Given the description of an element on the screen output the (x, y) to click on. 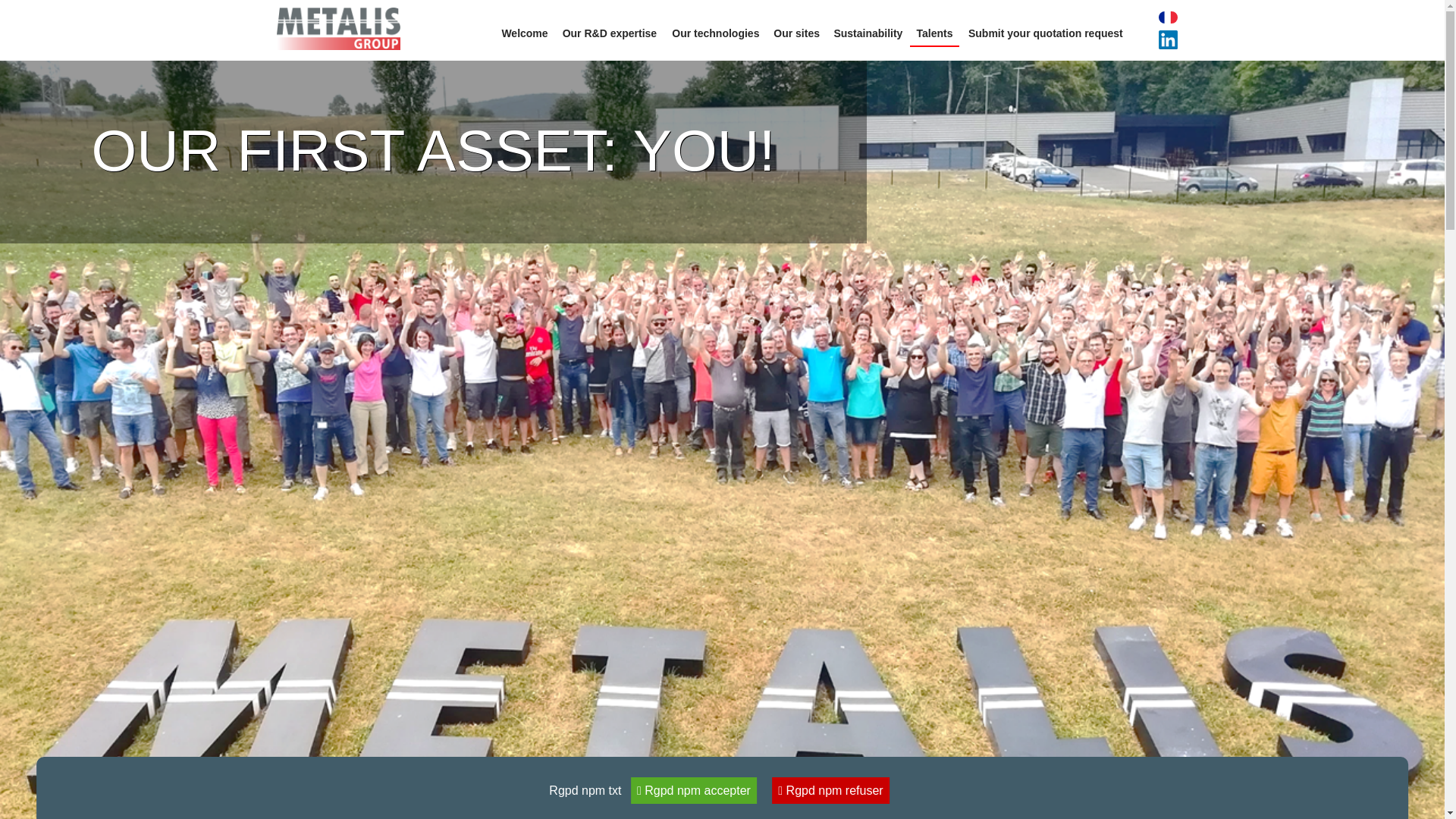
Sustainability (868, 33)
Our sites (796, 33)
Our sites (796, 33)
Welcome (524, 33)
Talents (934, 33)
Submit your quotation request (1045, 33)
Linkedin (1153, 39)
Welcome (524, 33)
Our technologies (715, 33)
Our technologies (715, 33)
